Given the description of an element on the screen output the (x, y) to click on. 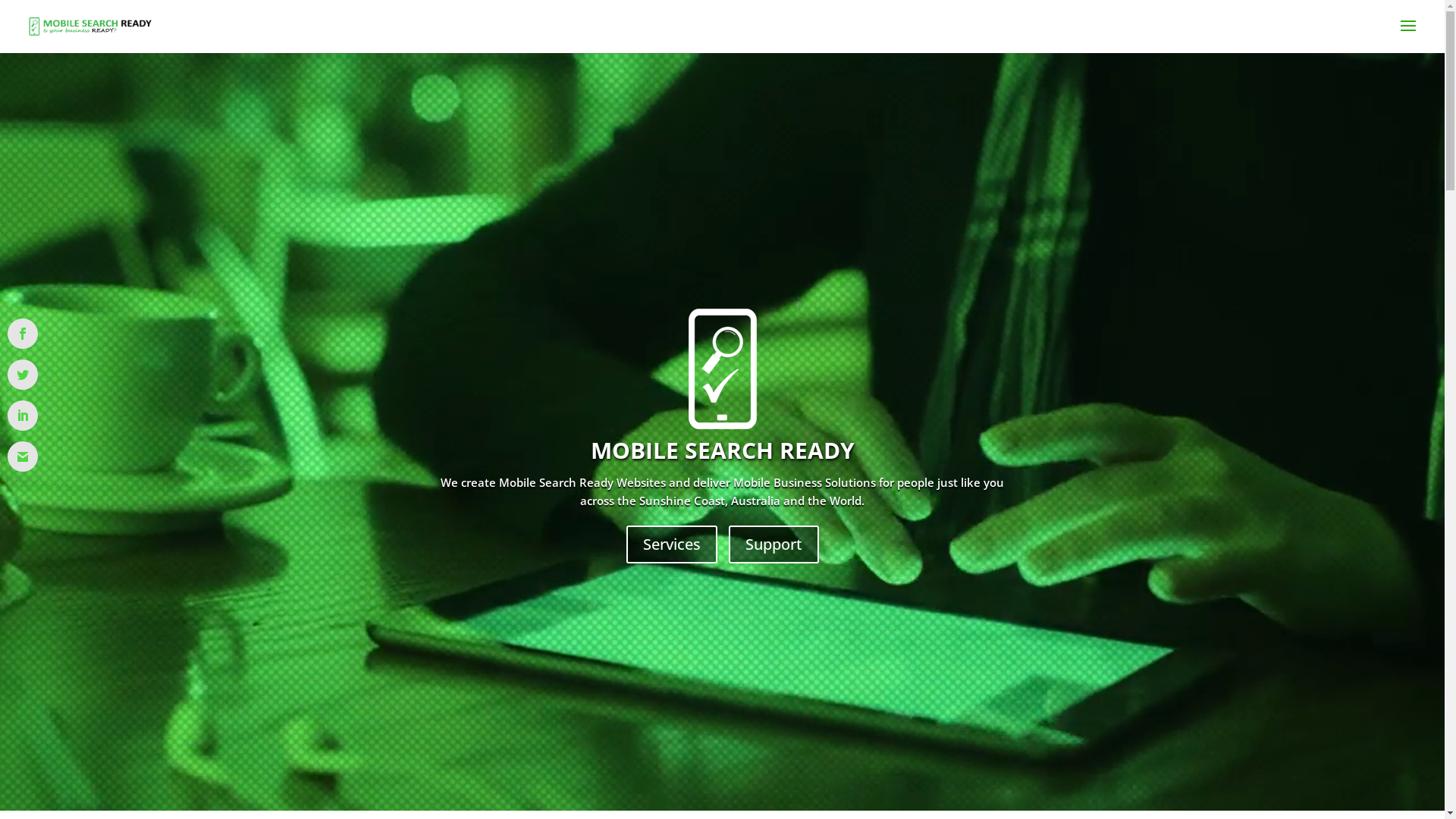
Support Element type: text (773, 544)
Services Element type: text (671, 544)
